Given the description of an element on the screen output the (x, y) to click on. 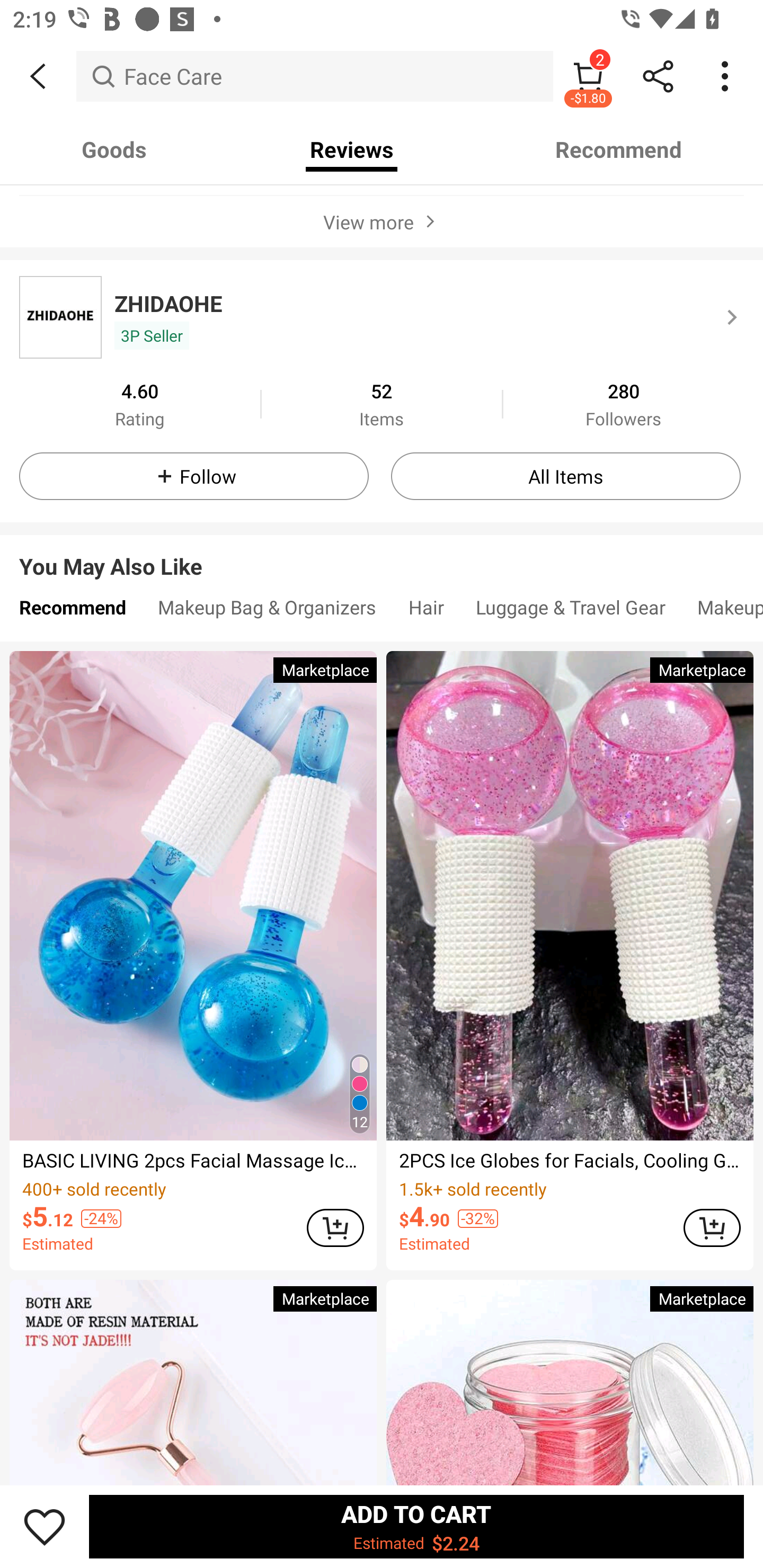
BACK (38, 75)
2 -$1.80 (588, 75)
Face Care (314, 75)
Goods (114, 149)
Reviews (351, 149)
Recommend (618, 149)
View more (381, 220)
Follow (193, 476)
All Items (565, 476)
You May Also Like (381, 553)
Recommend (72, 611)
Makeup Bag & Organizers (266, 611)
Hair (426, 611)
Luggage & Travel Gear (570, 611)
Makeup (722, 611)
ADD TO CART (334, 1227)
ADD TO CART (711, 1227)
ADD TO CART Estimated   $2.24 (416, 1526)
Save (44, 1526)
